Given the description of an element on the screen output the (x, y) to click on. 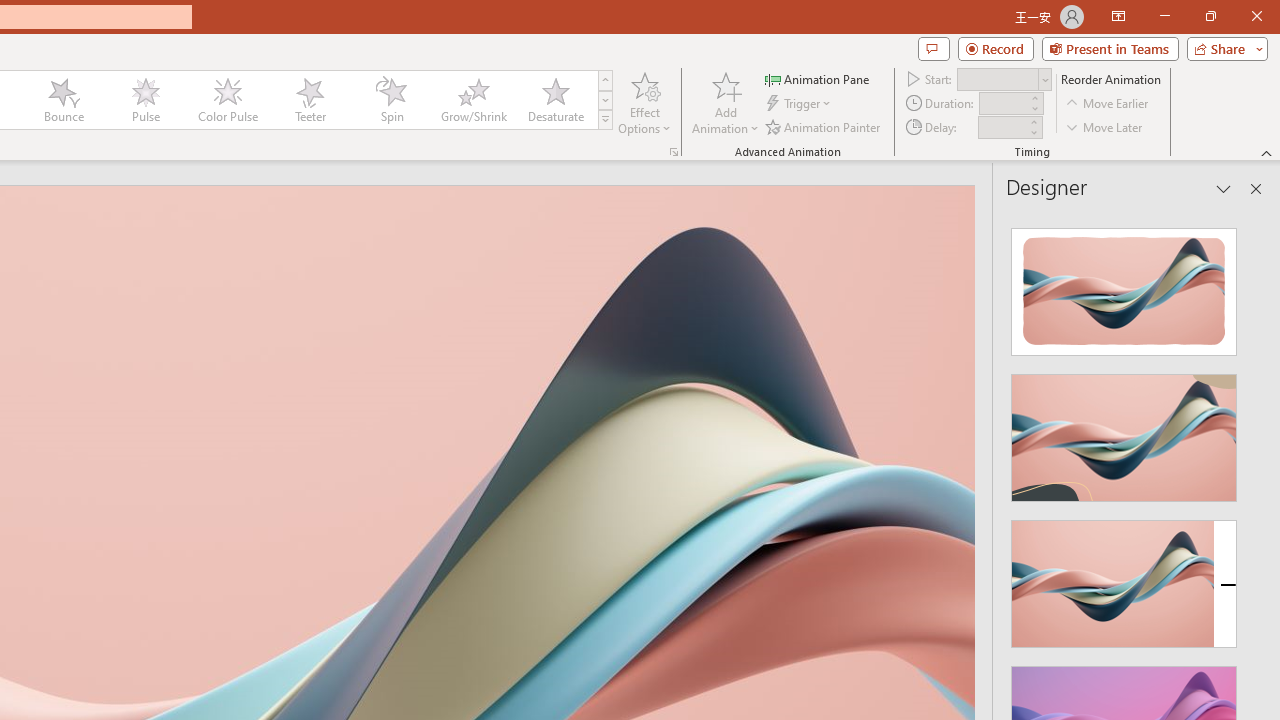
Animation Styles (605, 120)
Design Idea (1124, 577)
Grow/Shrink (473, 100)
Pulse (145, 100)
Add Animation (725, 102)
Move Earlier (1107, 103)
Bounce (63, 100)
Animation Duration (1003, 103)
Less (1033, 132)
Desaturate (555, 100)
Recommended Design: Design Idea (1124, 286)
